Given the description of an element on the screen output the (x, y) to click on. 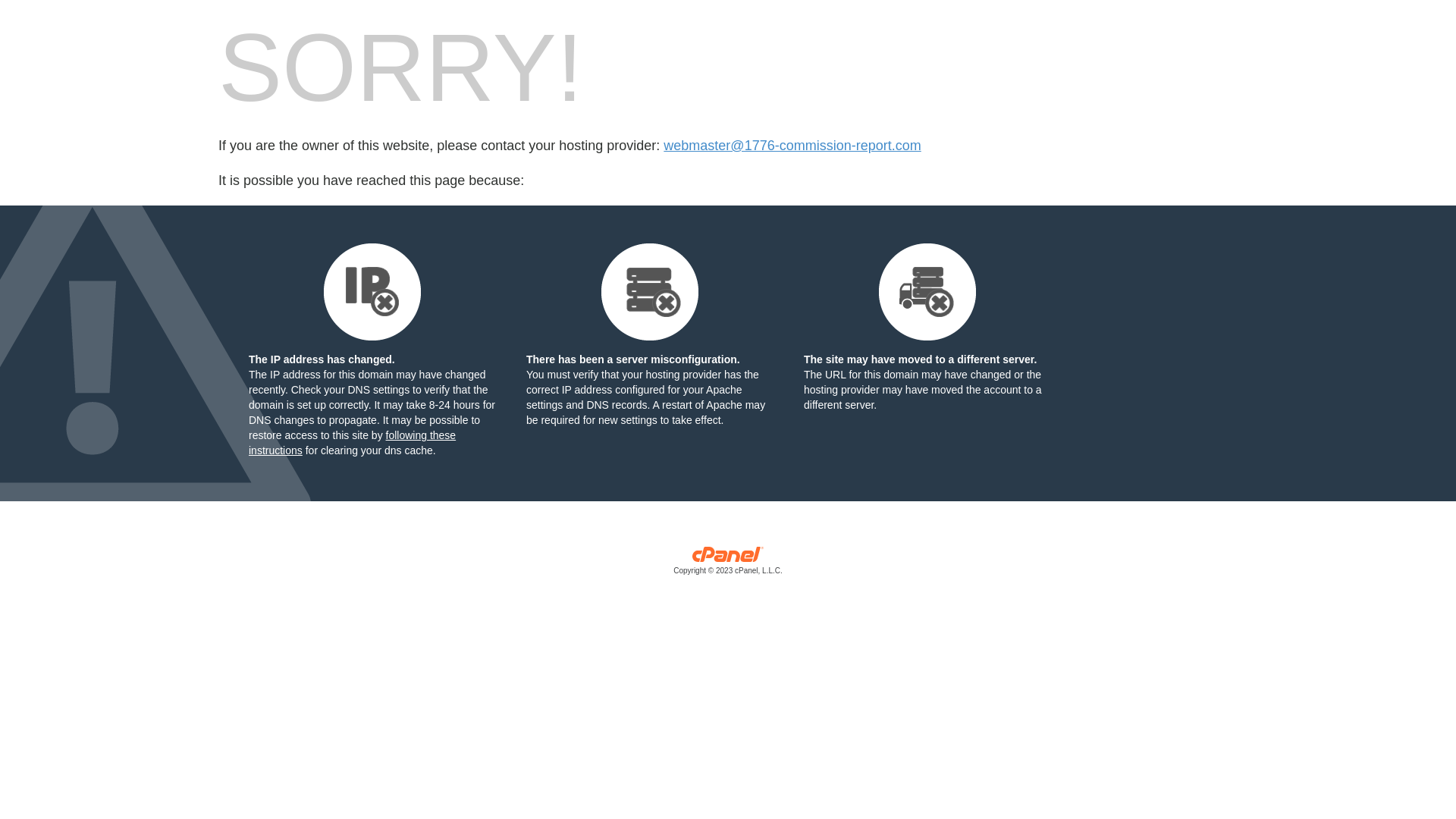
following these instructions Element type: text (351, 442)
webmaster@1776-commission-report.com Element type: text (791, 145)
